Given the description of an element on the screen output the (x, y) to click on. 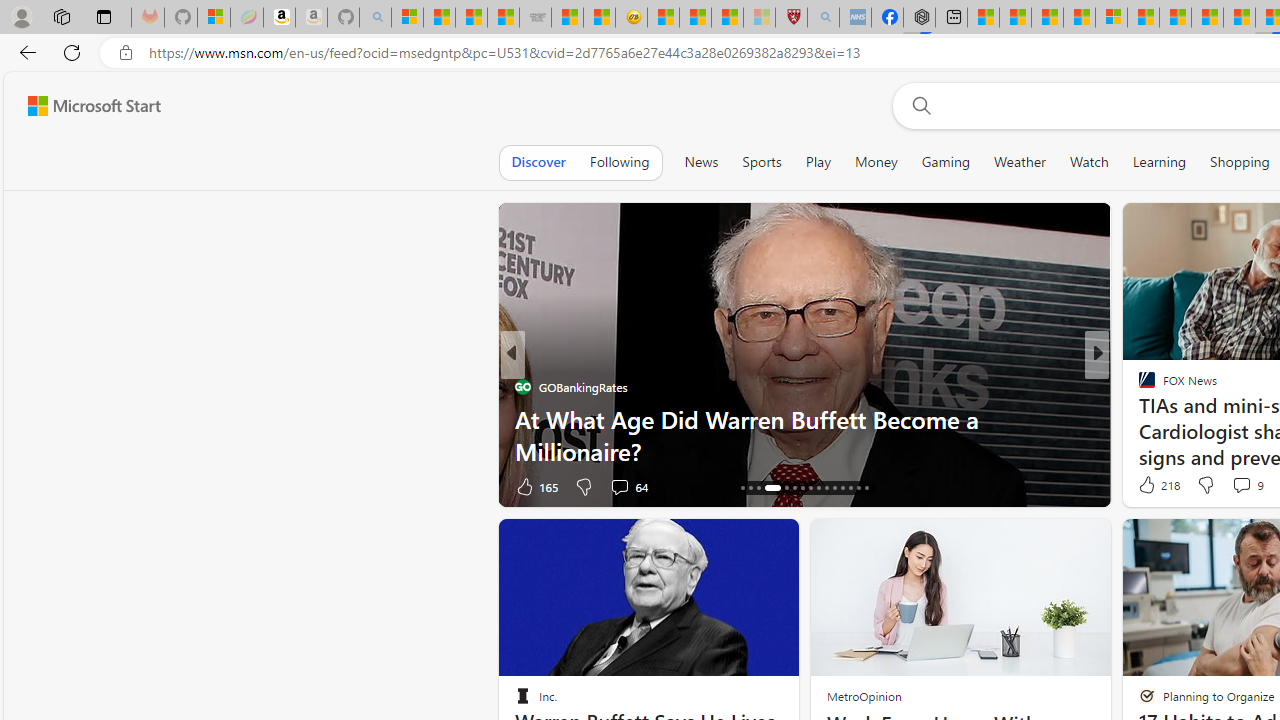
View comments 34 Comment (1244, 486)
Moneywise (1138, 386)
415 Like (1151, 486)
View comments 64 Comment (11, 485)
2 Like (528, 486)
14 Like (1149, 486)
